Given the description of an element on the screen output the (x, y) to click on. 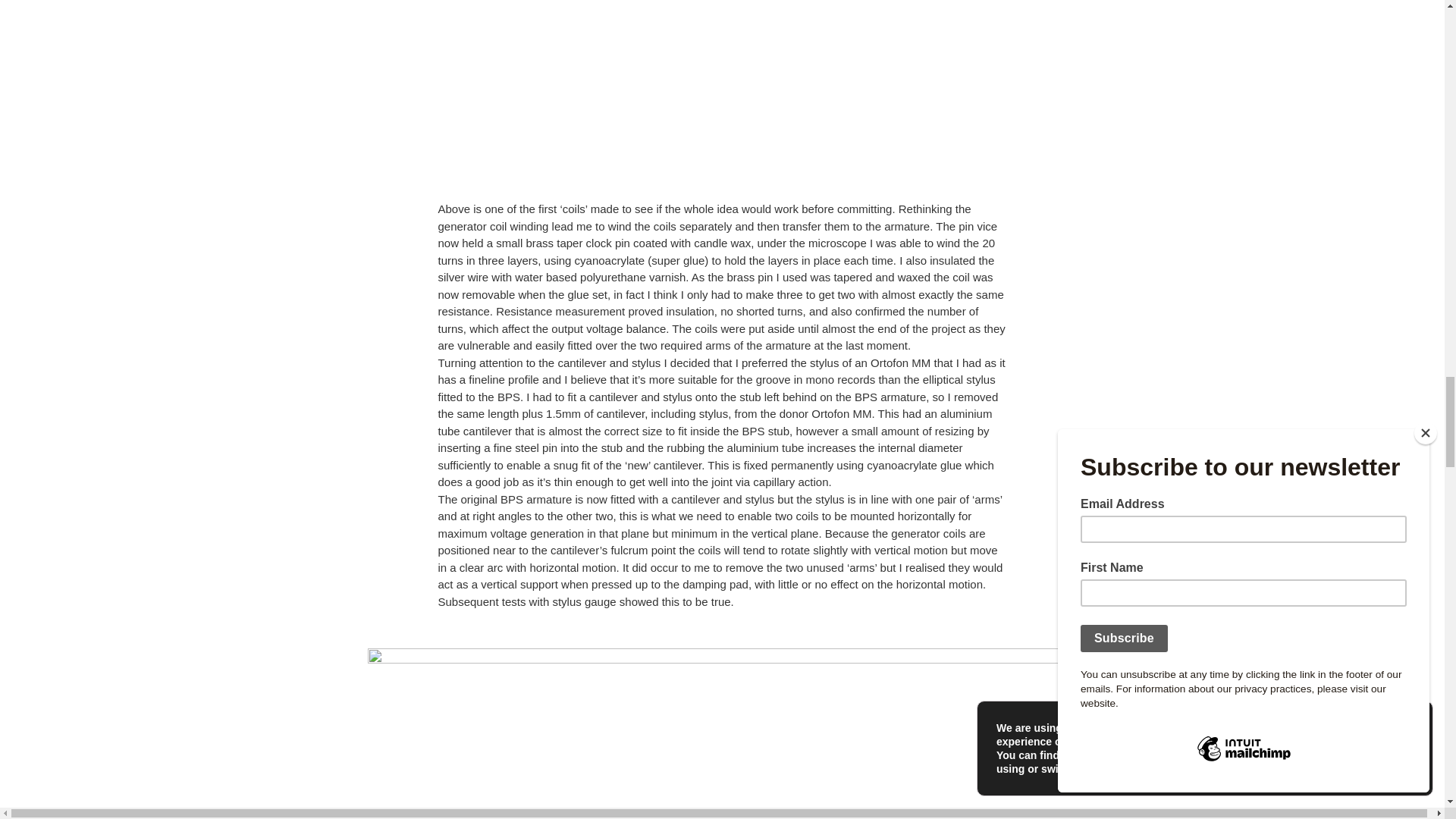
Making a mono MC cartridge 4 (722, 76)
